Given the description of an element on the screen output the (x, y) to click on. 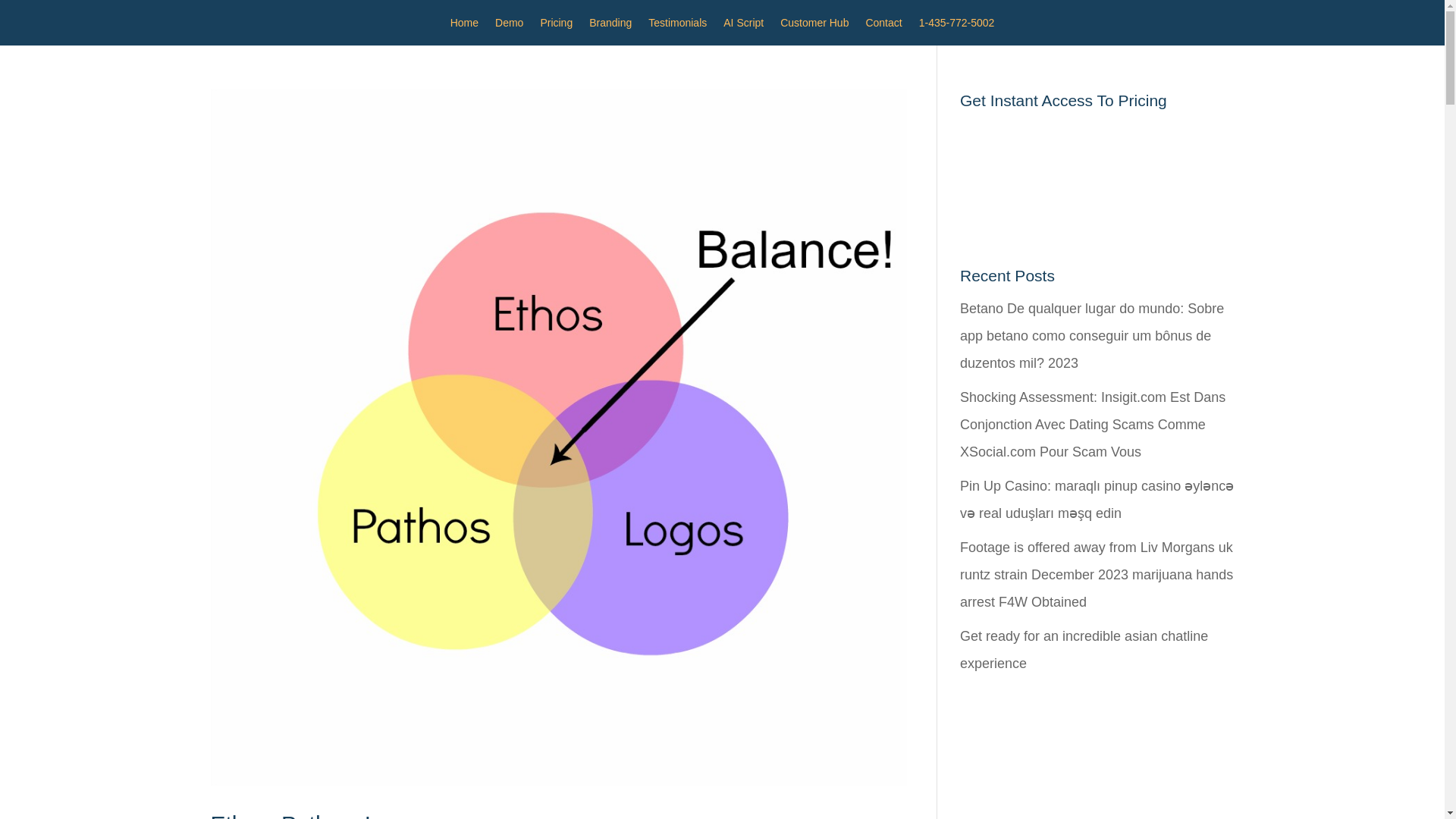
Pricing (556, 25)
Contact (882, 25)
Customer Hub (814, 25)
Home (464, 25)
Branding (610, 25)
AI Script (742, 25)
Ethos, Pathos, Logos (318, 815)
1-435-772-5002 (956, 25)
Testimonials (676, 25)
Demo (508, 25)
